Given the description of an element on the screen output the (x, y) to click on. 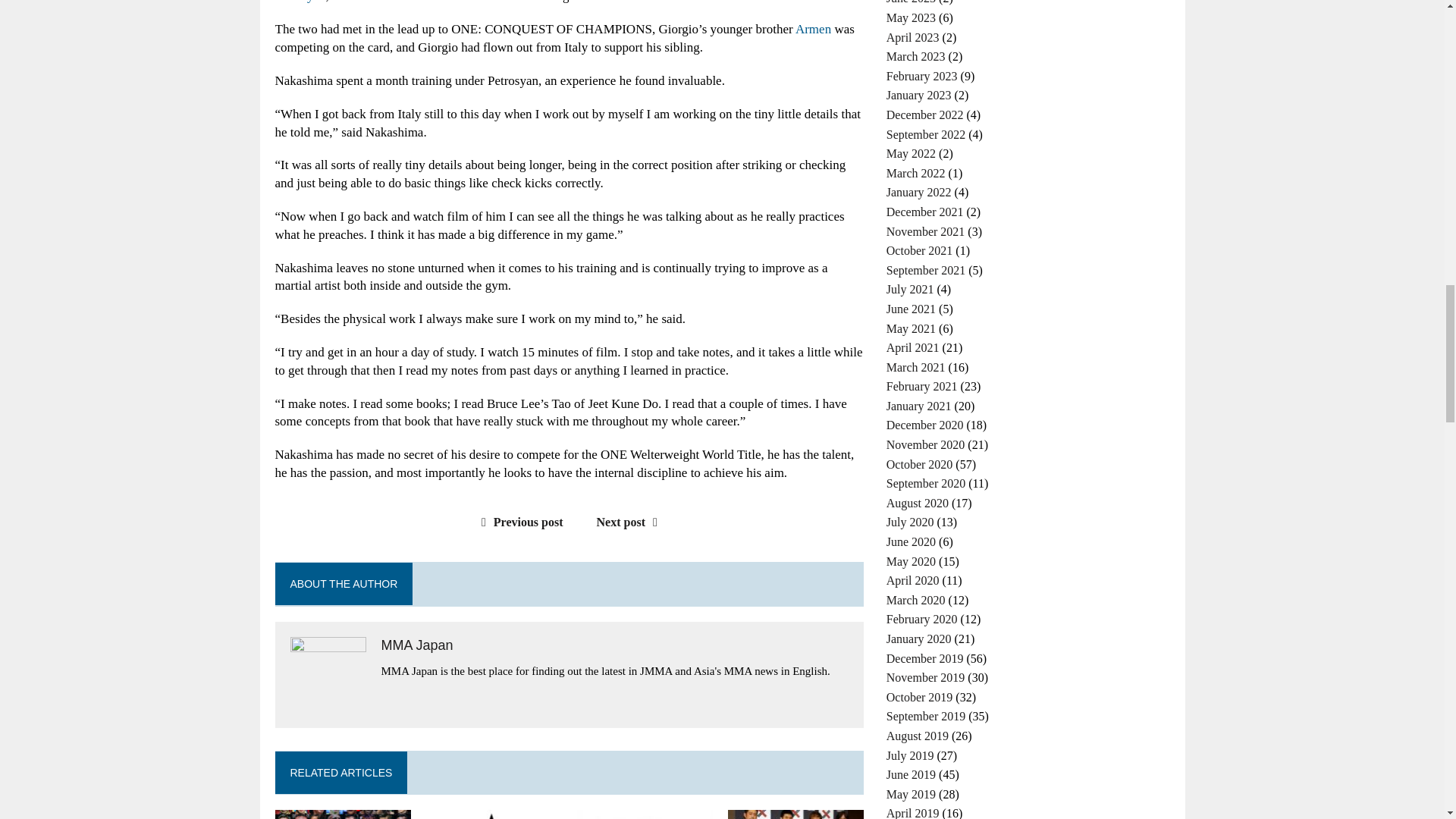
Previous post (518, 521)
Next post (630, 521)
Armen (812, 29)
